Given the description of an element on the screen output the (x, y) to click on. 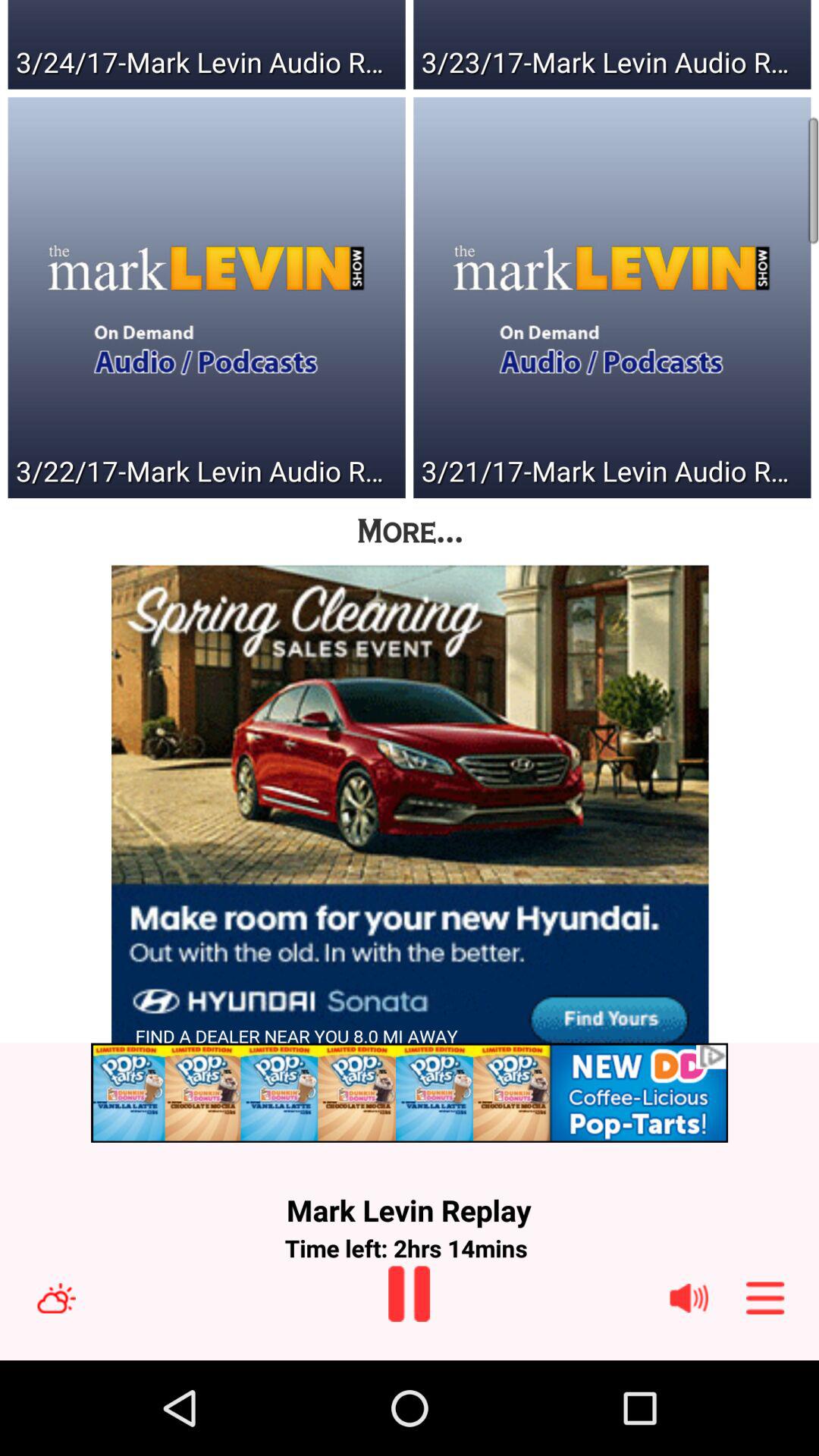
advertisement (409, 814)
